Given the description of an element on the screen output the (x, y) to click on. 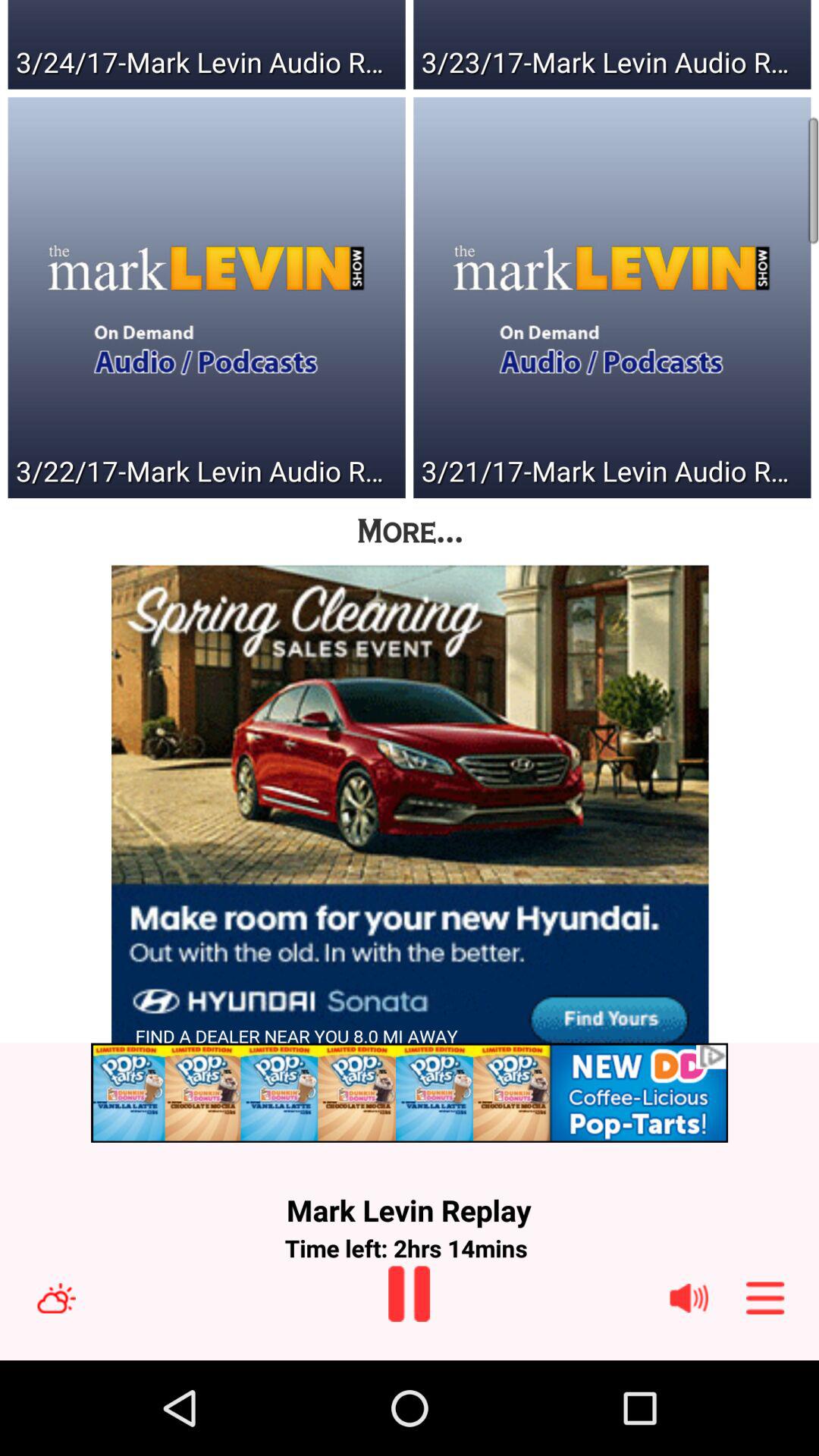
advertisement (409, 814)
